Given the description of an element on the screen output the (x, y) to click on. 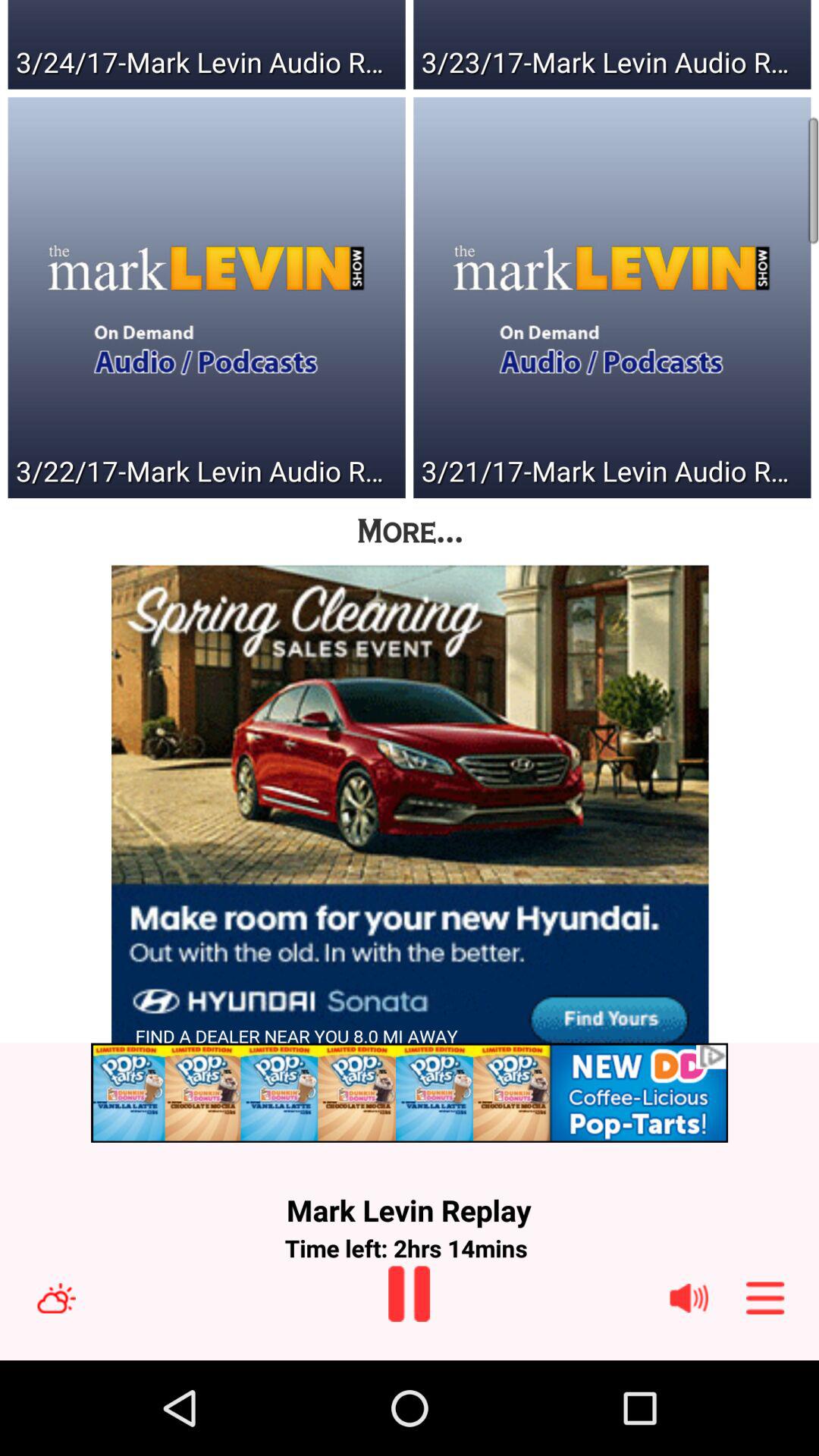
advertisement (409, 814)
